Given the description of an element on the screen output the (x, y) to click on. 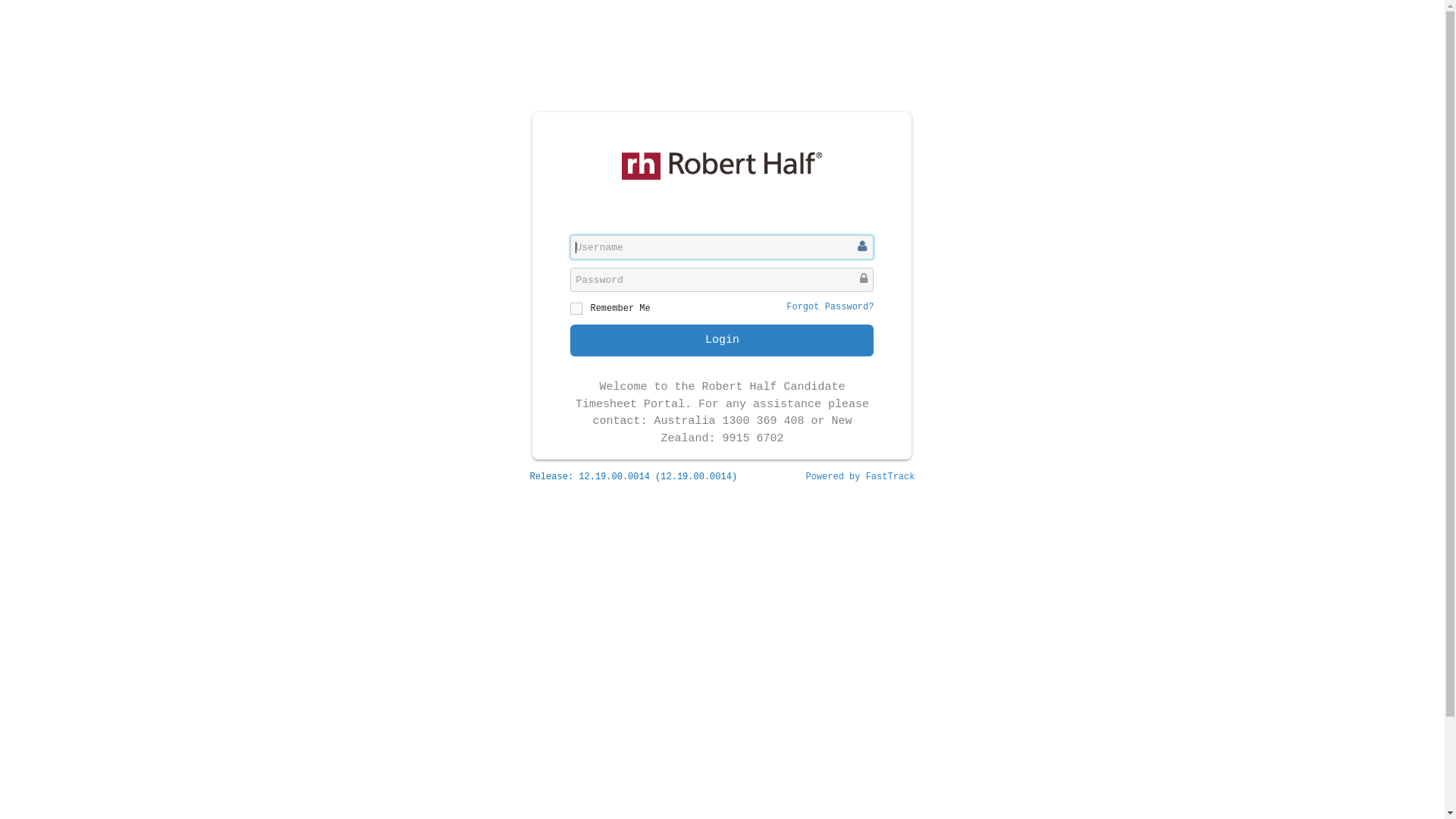
Login Element type: text (721, 340)
Forgot Password? Element type: text (829, 306)
Powered by FastTrack Element type: text (859, 476)
